Given the description of an element on the screen output the (x, y) to click on. 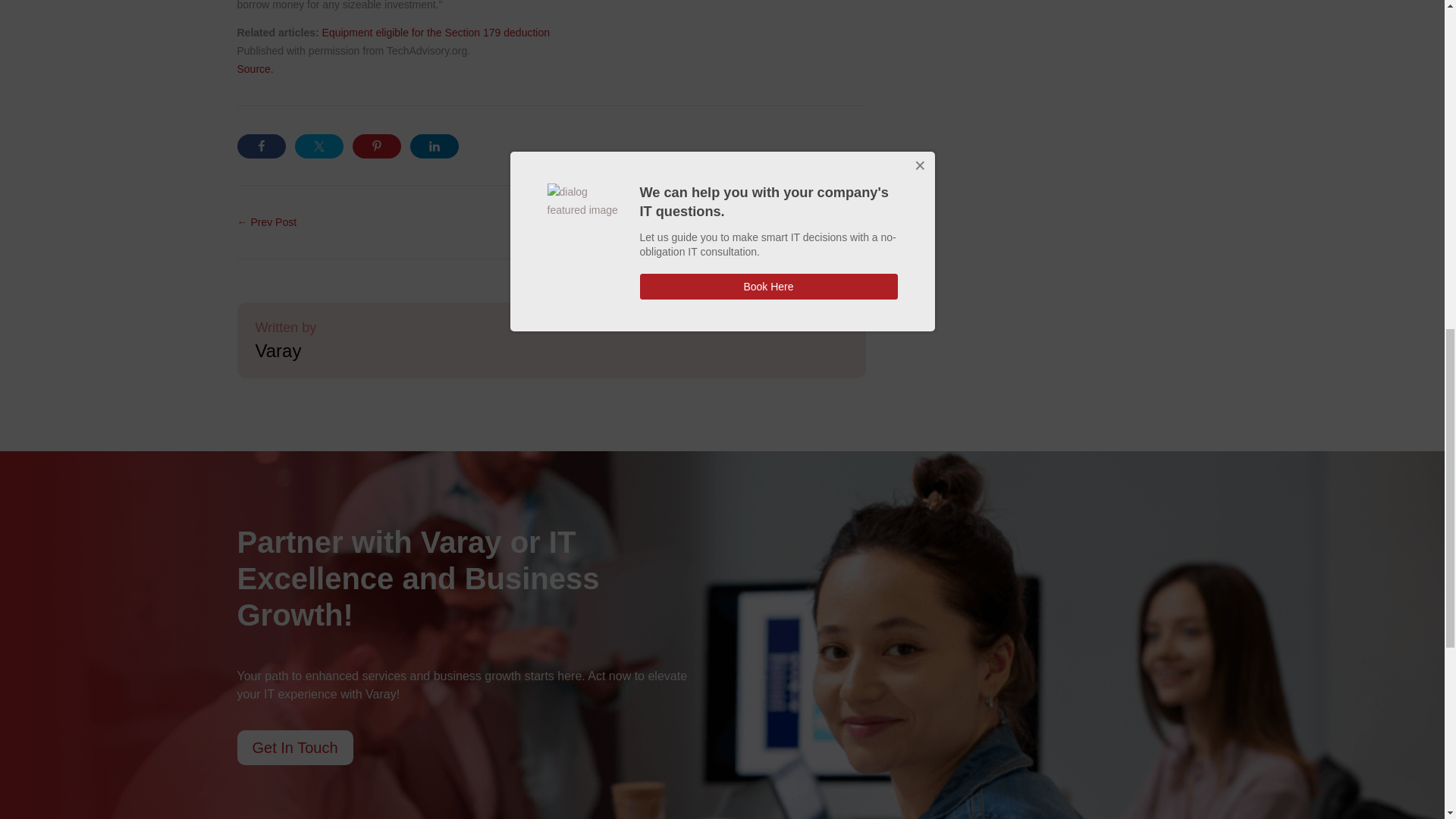
Share on Twitter (318, 146)
Share on LinkedIn (433, 146)
Share on Pinterest (376, 146)
Share on Facebook (260, 146)
Equipment eligible for the Section 179 deduction (435, 32)
